Given the description of an element on the screen output the (x, y) to click on. 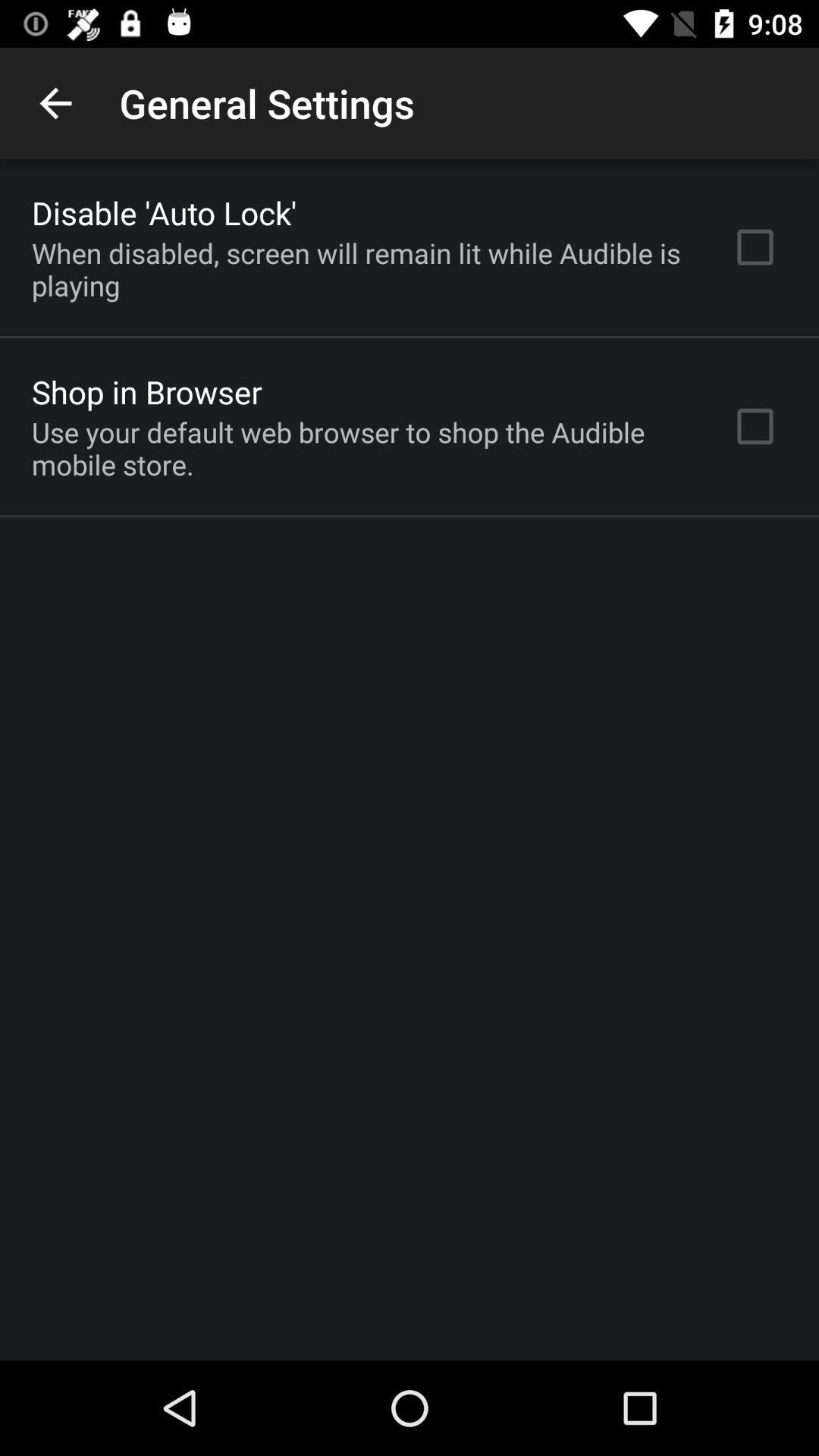
choose the icon next to general settings (55, 103)
